Given the description of an element on the screen output the (x, y) to click on. 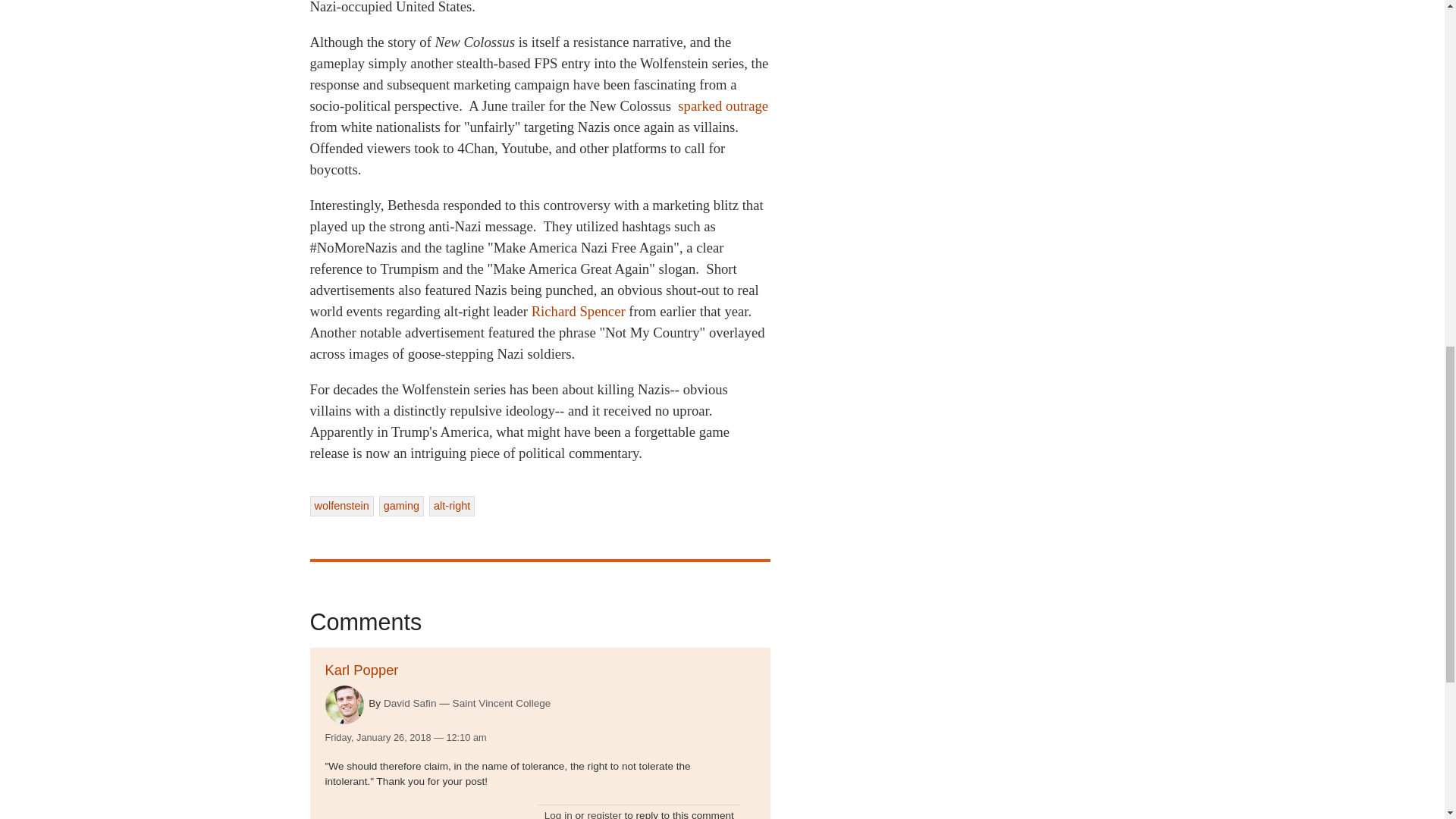
Richard Spencer (578, 311)
Saint Vincent College (501, 703)
sparked outrage (723, 105)
David Safin (410, 703)
gaming (400, 505)
User profile: David Safin (410, 703)
Saint Vincent College (501, 703)
alt-right (451, 505)
View user profile. (343, 704)
wolfenstein (340, 505)
